Given the description of an element on the screen output the (x, y) to click on. 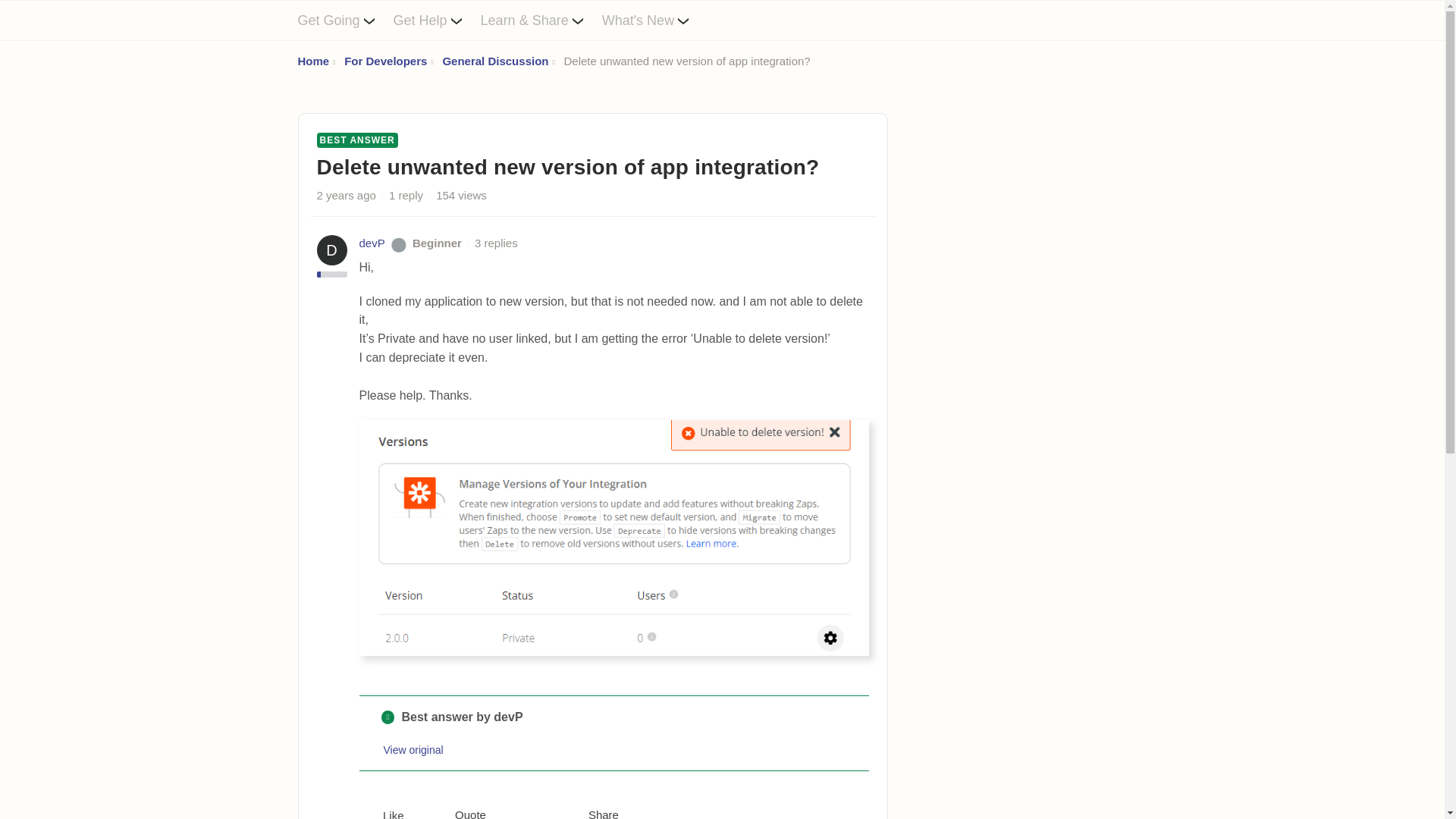
1 reply (405, 195)
D (332, 250)
Home (313, 61)
devP (372, 243)
For Developers (384, 61)
Get Going (345, 20)
devP (372, 243)
What's New (654, 20)
Like (382, 813)
Get Help (436, 20)
View original (414, 749)
General Discussion (495, 61)
Quote (458, 813)
